Given the description of an element on the screen output the (x, y) to click on. 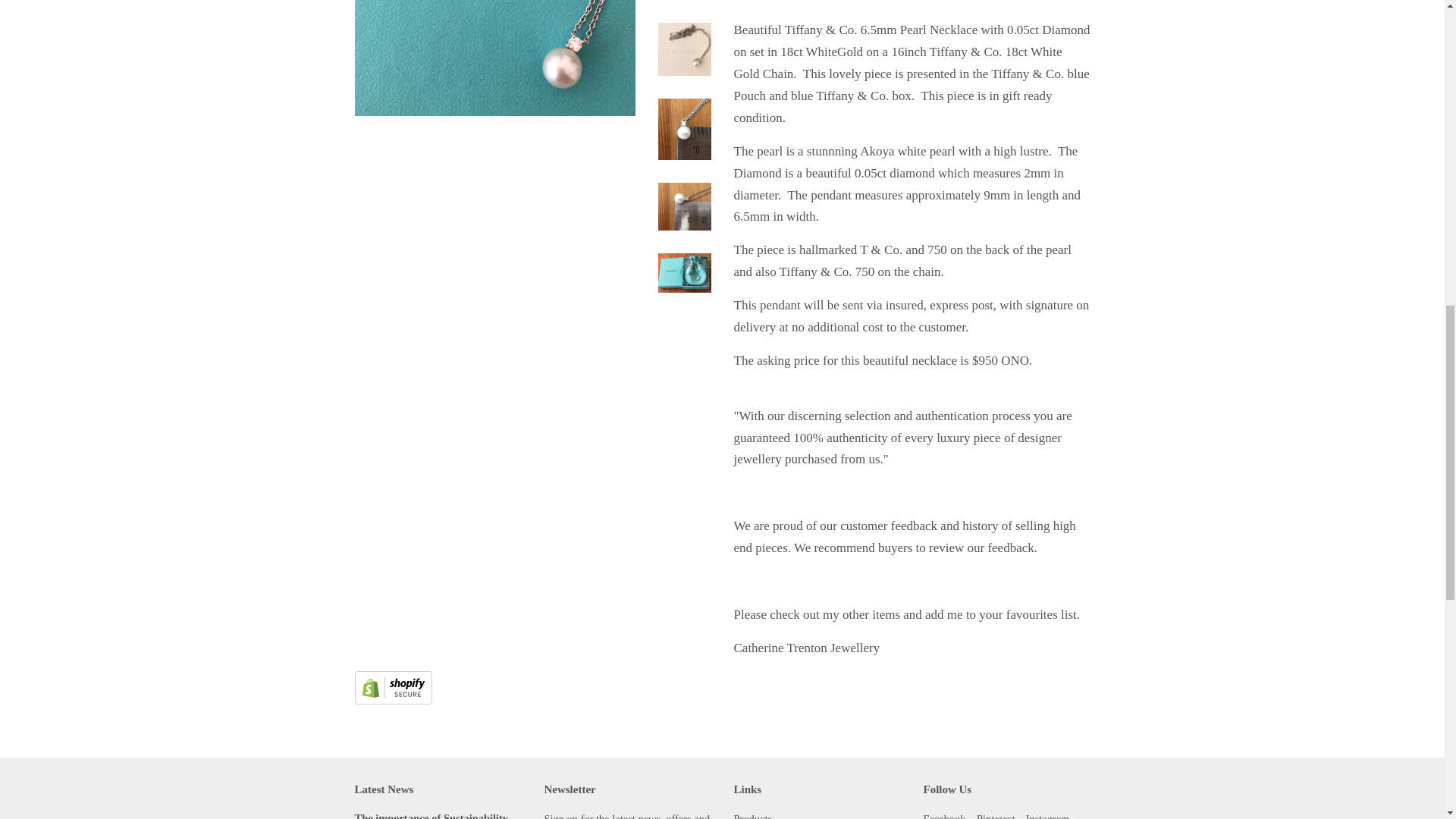
Catherine Trenton  Jewellery on Pinterest (995, 816)
Latest News (384, 788)
This online store is secured by Shopify (393, 699)
Catherine Trenton  Jewellery on Instagram (1048, 816)
Catherine Trenton  Jewellery on Facebook (944, 816)
